Given the description of an element on the screen output the (x, y) to click on. 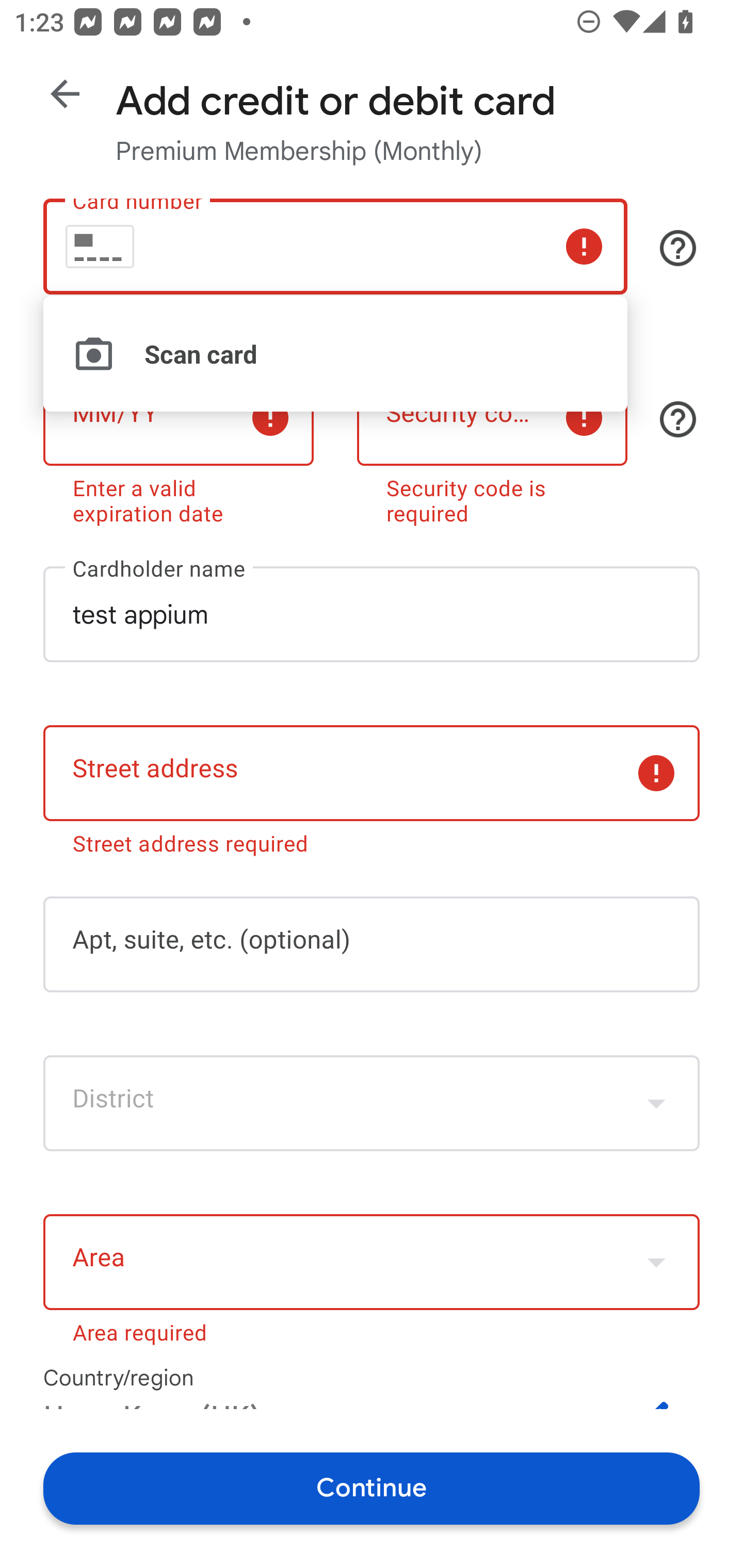
Back (64, 93)
Card number (335, 246)
Button, shows cards that are accepted for payment (677, 247)
Security code Error Security code is required (492, 444)
Security code help (677, 419)
test appium (371, 613)
Street address (371, 772)
Apt, suite, etc. (optional) (371, 944)
District (371, 1102)
Show dropdown menu (655, 1102)
Area (371, 1261)
Show dropdown menu (655, 1262)
Continue (371, 1487)
